Given the description of an element on the screen output the (x, y) to click on. 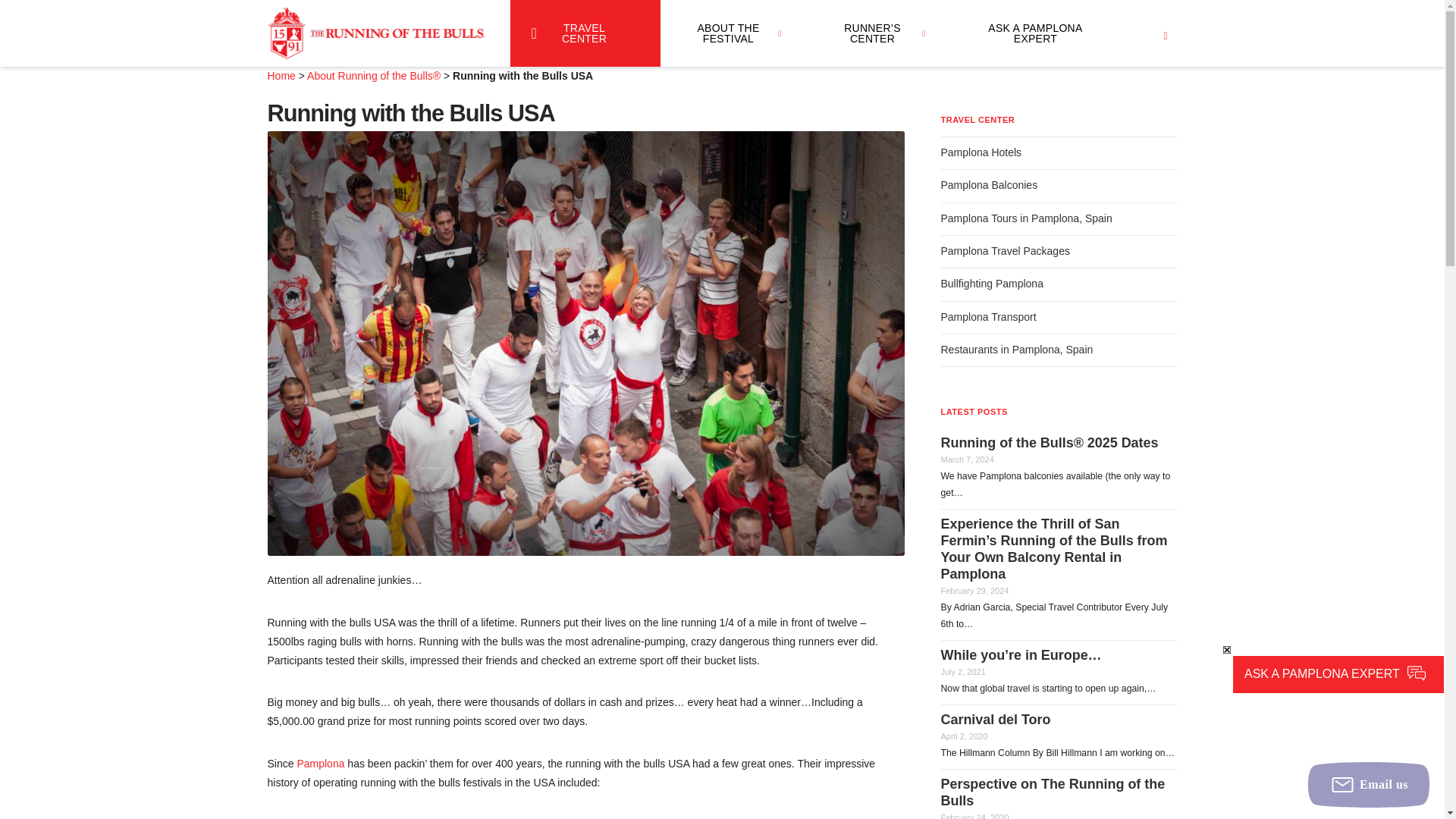
TRAVEL CENTER (584, 33)
ABOUT THE FESTIVAL (731, 33)
